Given the description of an element on the screen output the (x, y) to click on. 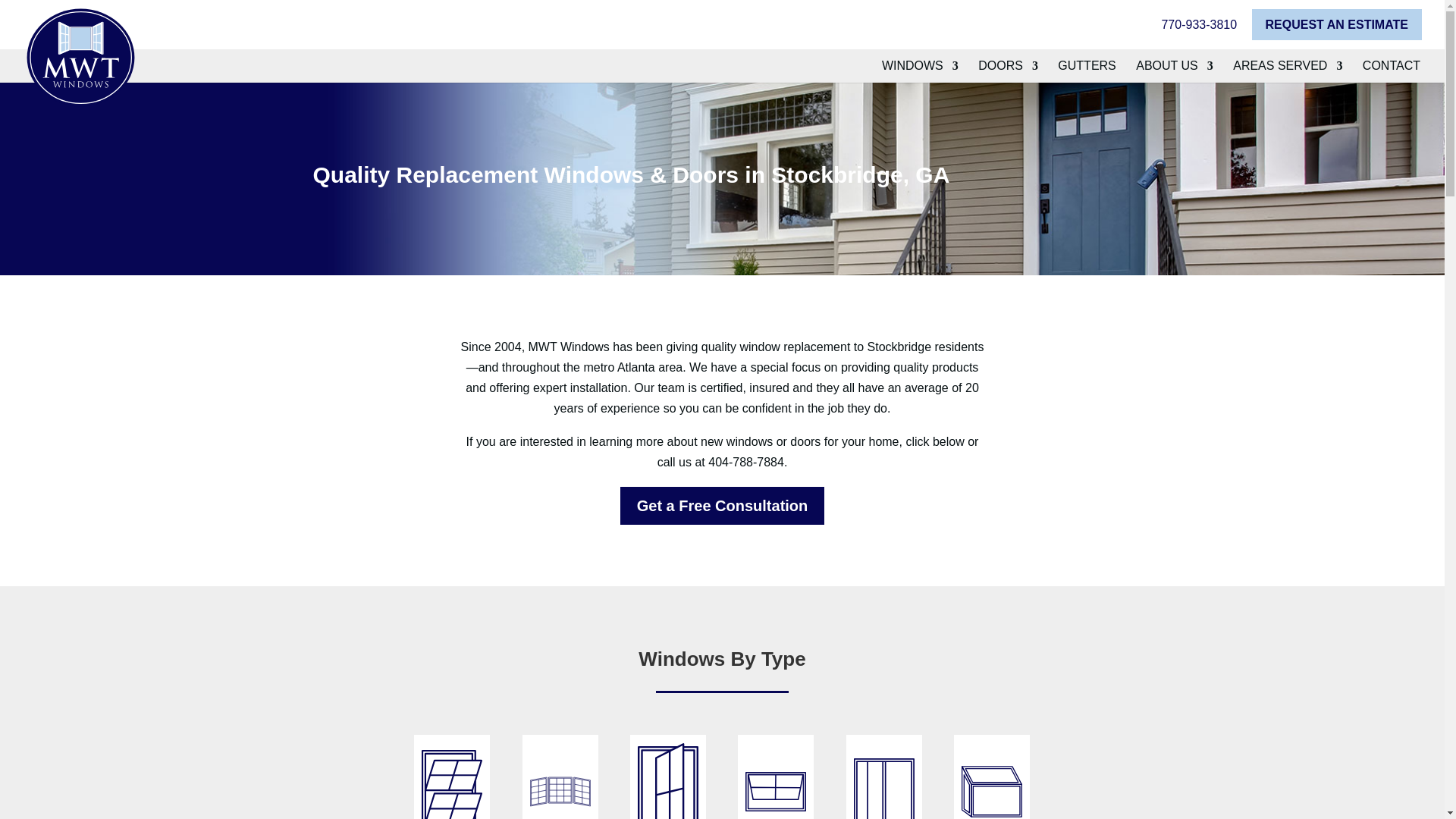
Double-Hung Windows (451, 776)
Awning Windows (775, 776)
WINDOWS (920, 71)
Garden Windows (991, 776)
Sliding Windows (883, 776)
770-933-3810 (1198, 29)
ABOUT US (1173, 71)
DOORS (1008, 71)
REQUEST AN ESTIMATE (1337, 24)
Casement Windows (668, 776)
GUTTERS (1086, 71)
AREAS SERVED (1287, 71)
